Given the description of an element on the screen output the (x, y) to click on. 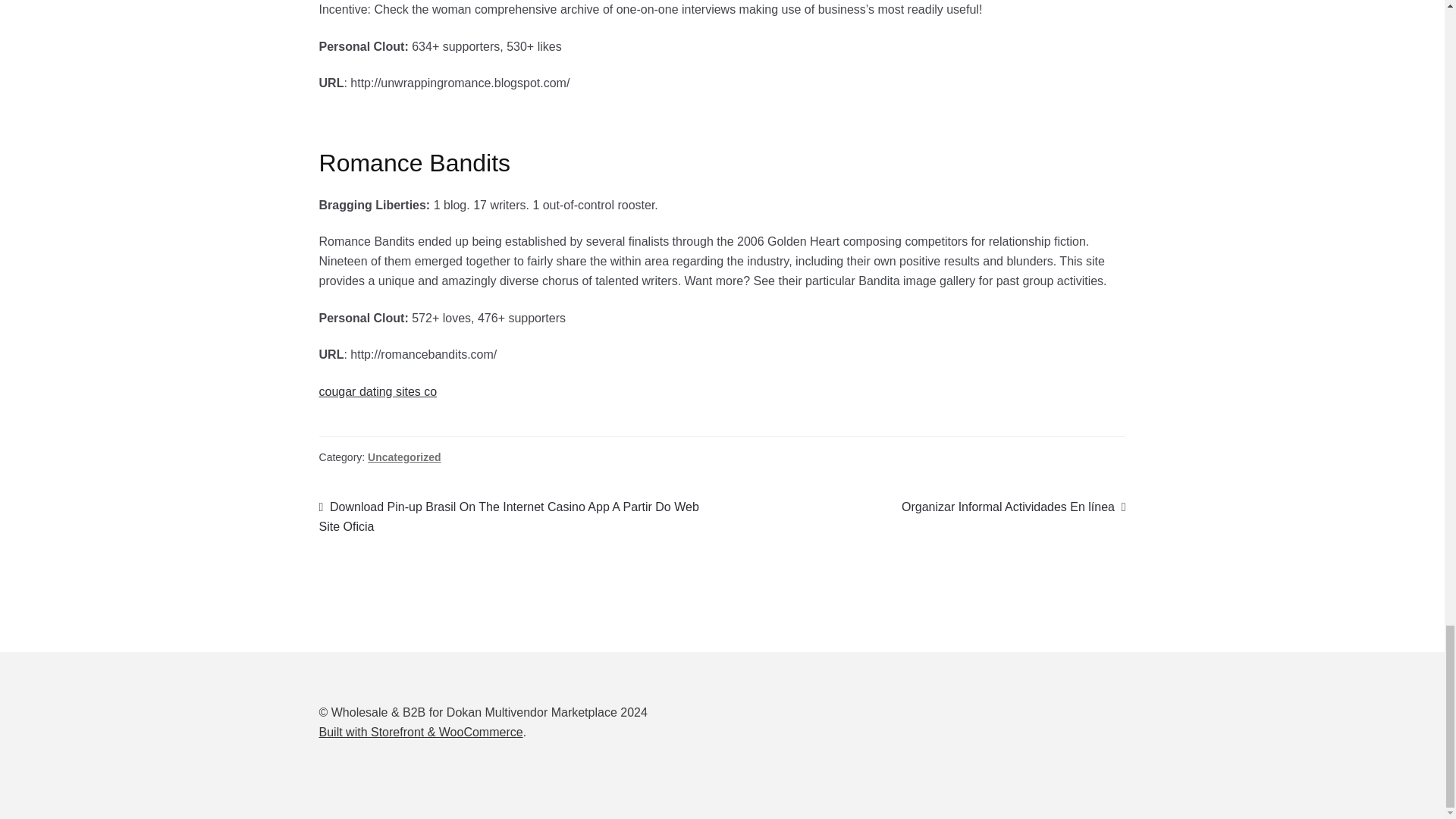
cougar dating sites co (378, 391)
Uncategorized (404, 457)
WooCommerce - The Best eCommerce Platform for WordPress (420, 731)
